Given the description of an element on the screen output the (x, y) to click on. 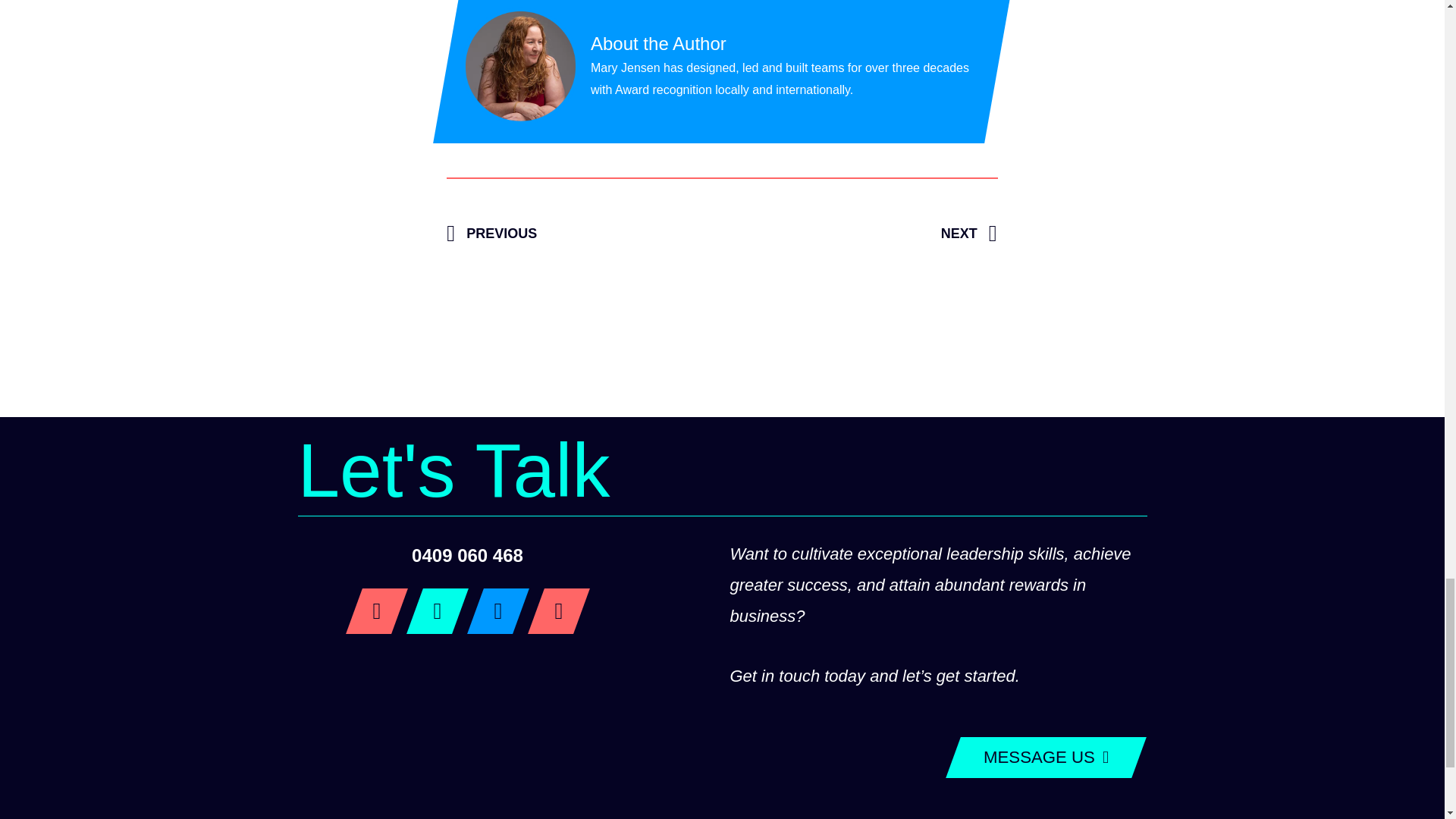
PREVIOUS (584, 233)
0409 060 468 (467, 555)
NEXT (859, 233)
MESSAGE US (1039, 757)
